Given the description of an element on the screen output the (x, y) to click on. 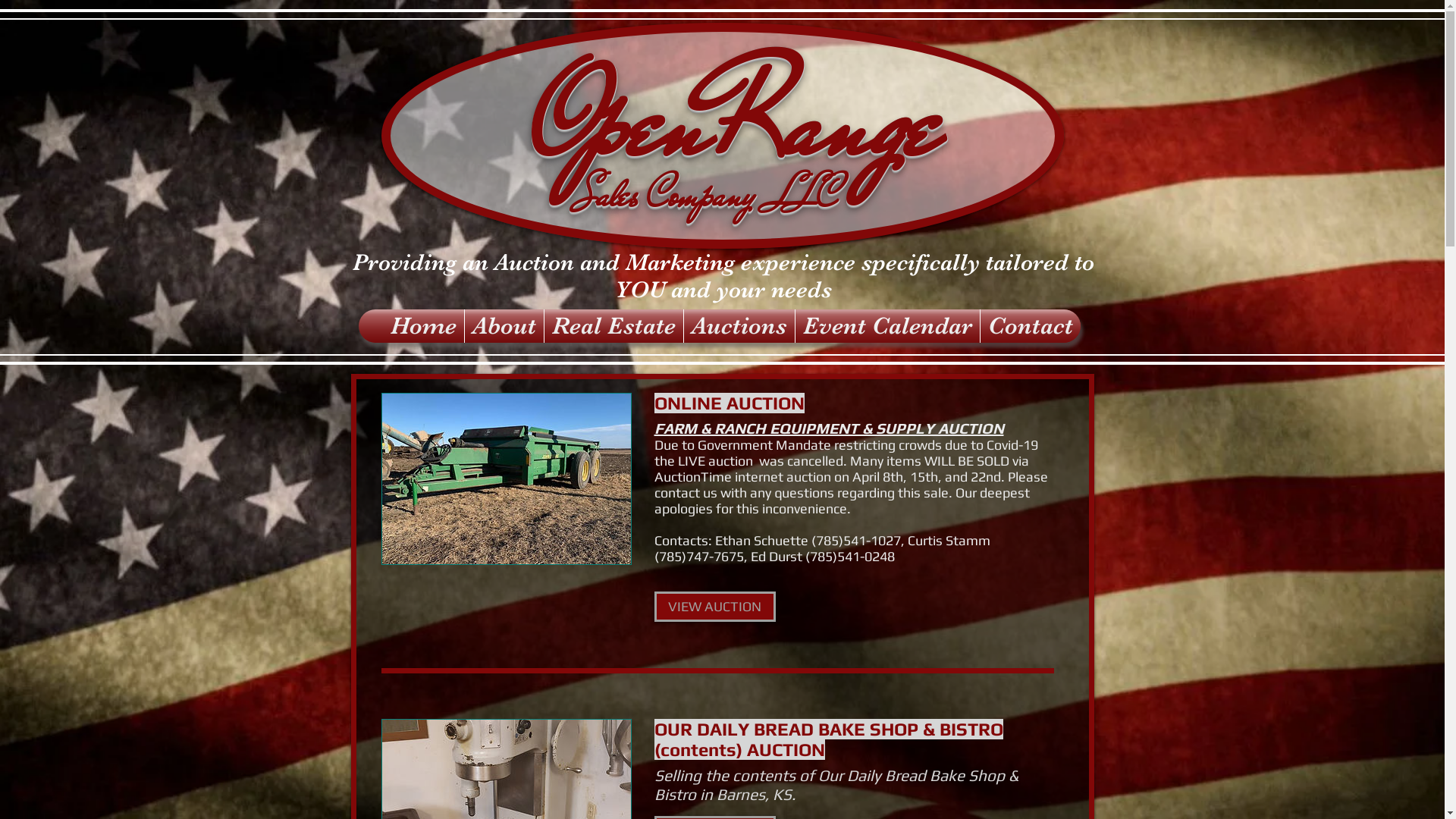
JD 785 Manure Spreader3.jpg Element type: hover (505, 478)
Real Estate Element type: text (613, 325)
Event Calendar Element type: text (886, 325)
Contact Element type: text (1029, 325)
Home Element type: text (422, 325)
VIEW AUCTION Element type: text (714, 606)
